Given the description of an element on the screen output the (x, y) to click on. 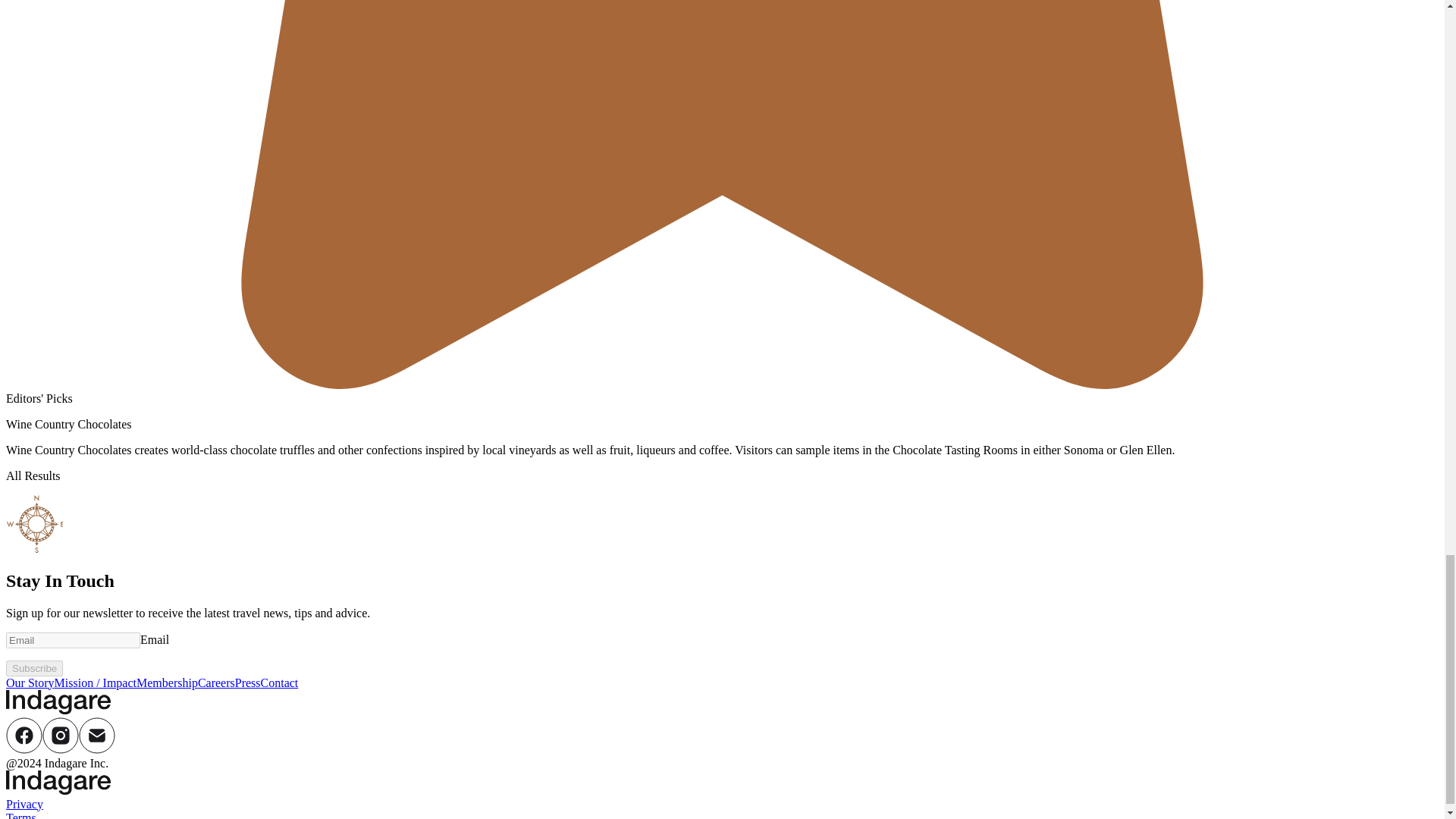
Careers (216, 682)
Our Story (30, 682)
Subscribe (33, 668)
Membership (167, 682)
